Given the description of an element on the screen output the (x, y) to click on. 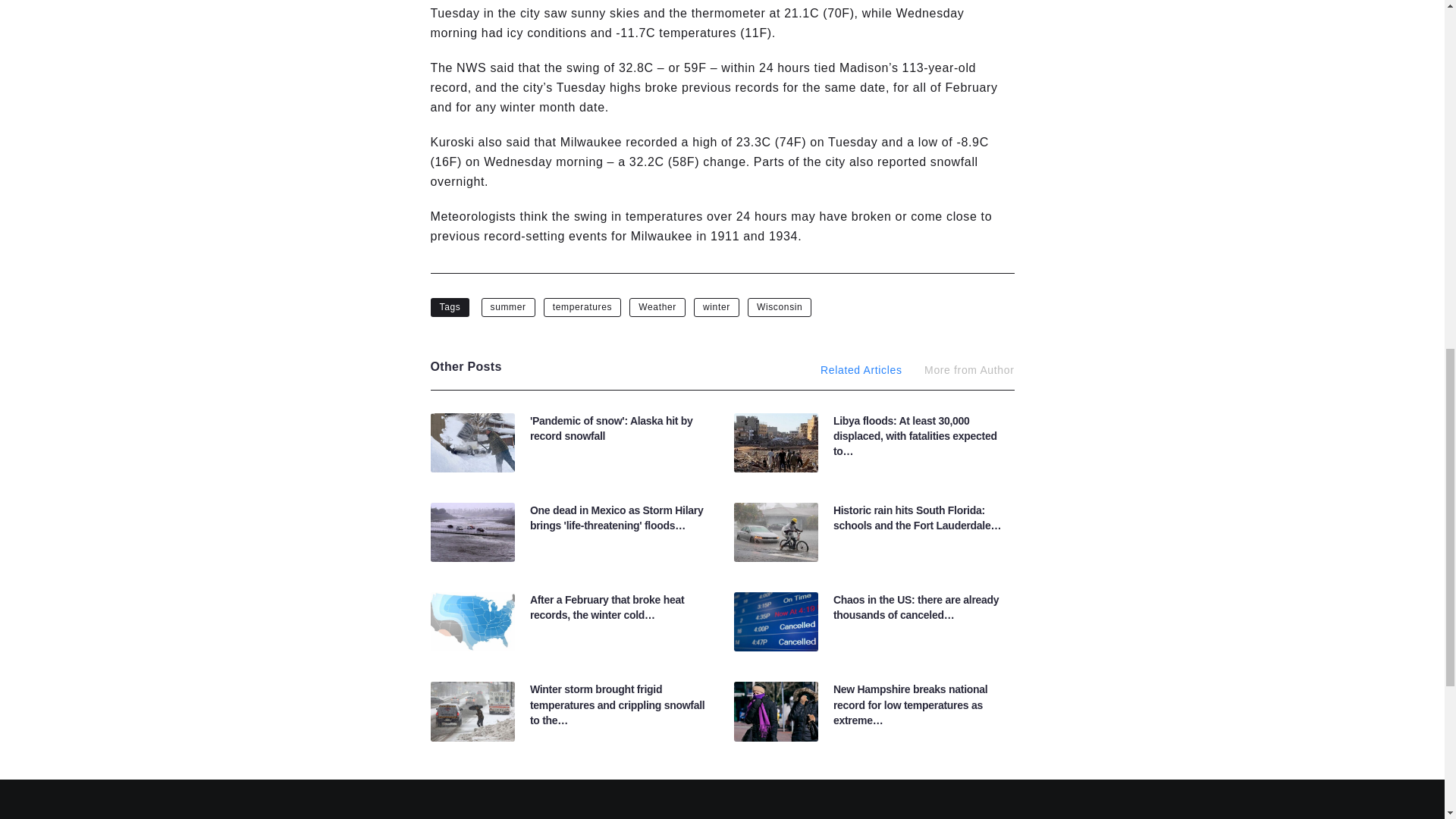
winter (716, 306)
Wisconsin (779, 306)
'Pandemic of snow': Alaska hit by record snowfall (611, 428)
'Pandemic of snow': Alaska hit by record snowfall (611, 428)
temperatures (582, 306)
summer (508, 306)
Weather (656, 306)
